Given the description of an element on the screen output the (x, y) to click on. 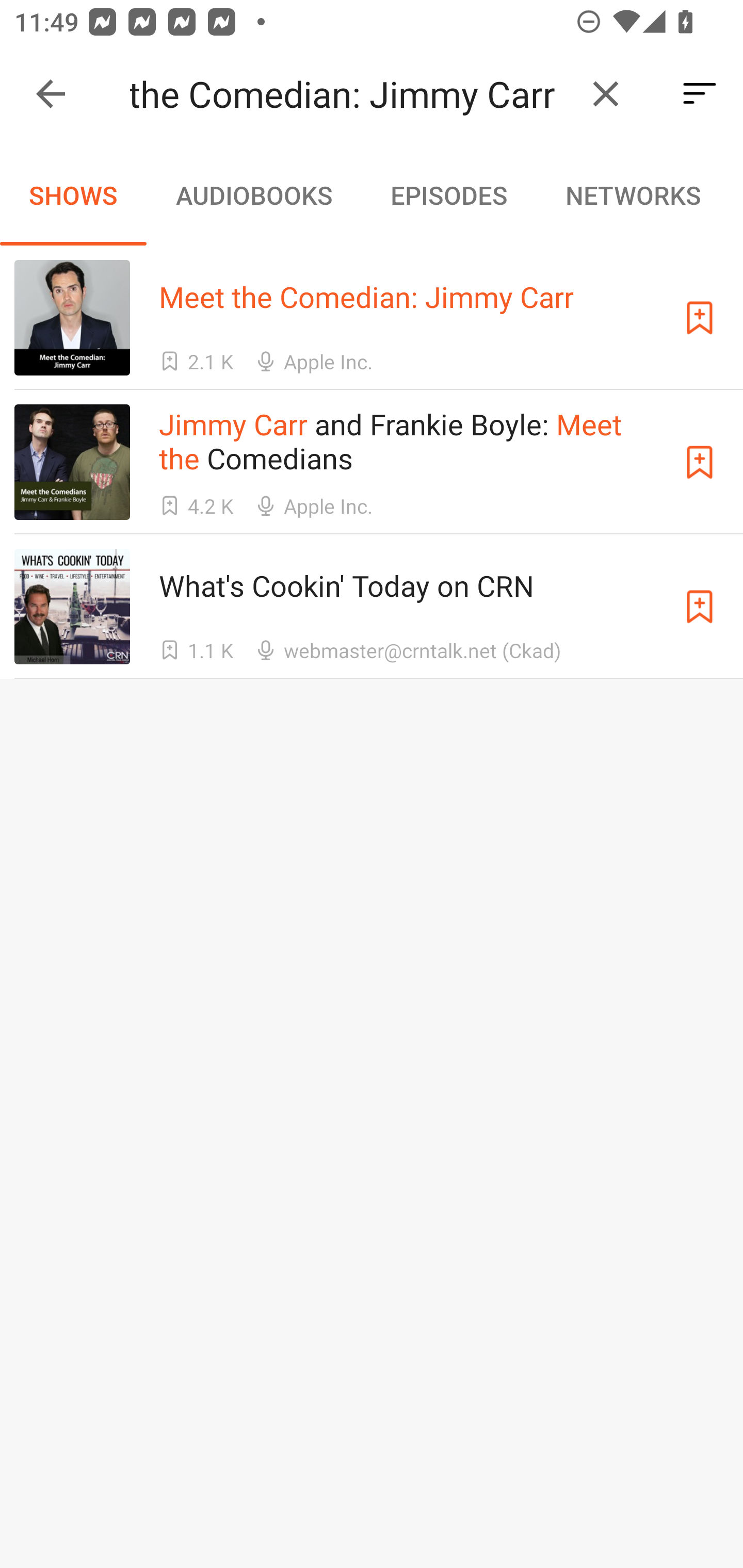
Collapse (50, 93)
Clear query (605, 93)
Sort By (699, 93)
Meet the Comedian: Jimmy Carr (349, 94)
SHOWS (73, 195)
AUDIOBOOKS (253, 195)
EPISODES (448, 195)
NETWORKS (632, 195)
Subscribe (699, 317)
Subscribe (699, 462)
Subscribe (699, 606)
